Given the description of an element on the screen output the (x, y) to click on. 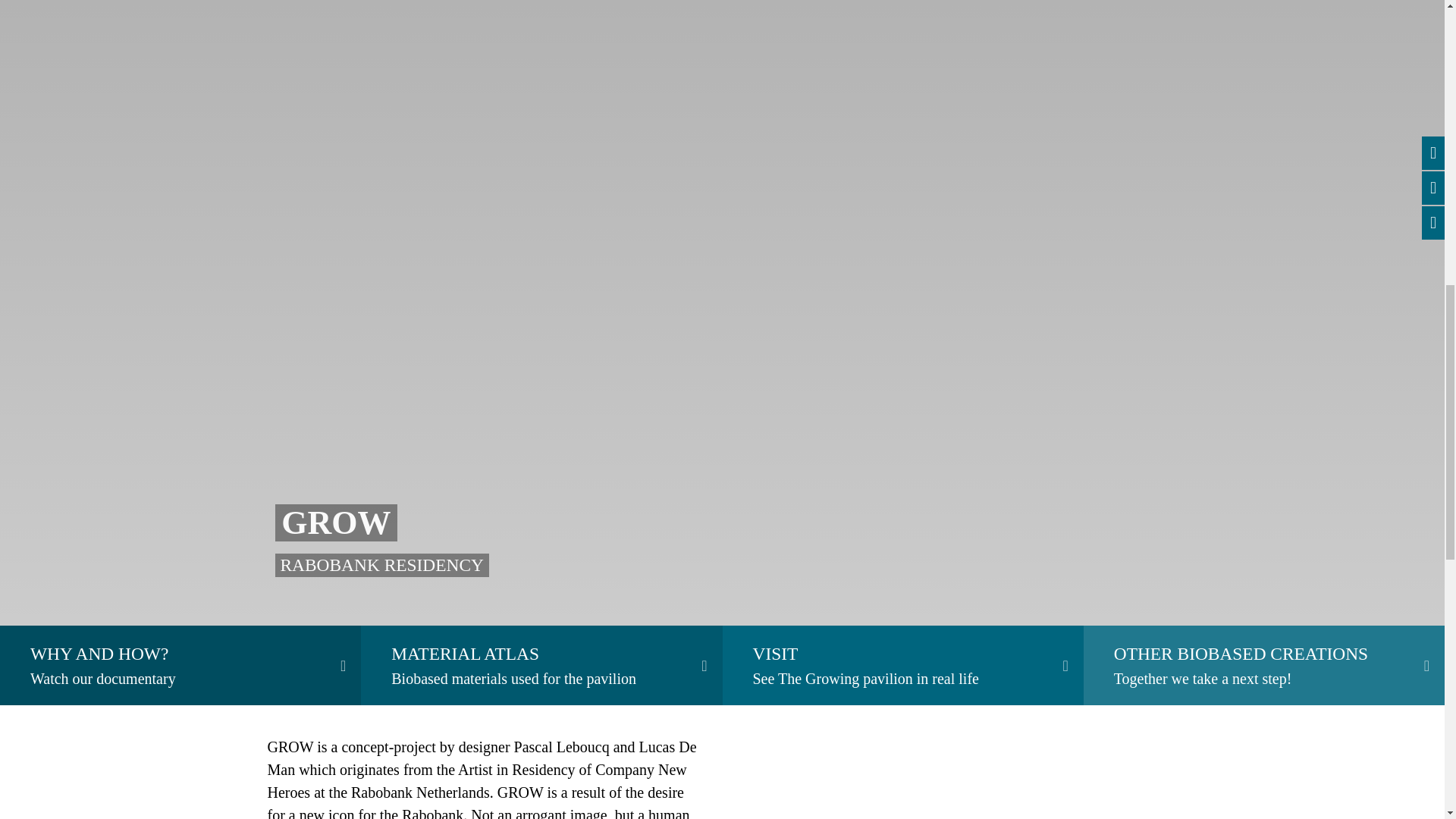
Why and how (180, 665)
Visit (902, 665)
Material Atlas (180, 665)
